Given the description of an element on the screen output the (x, y) to click on. 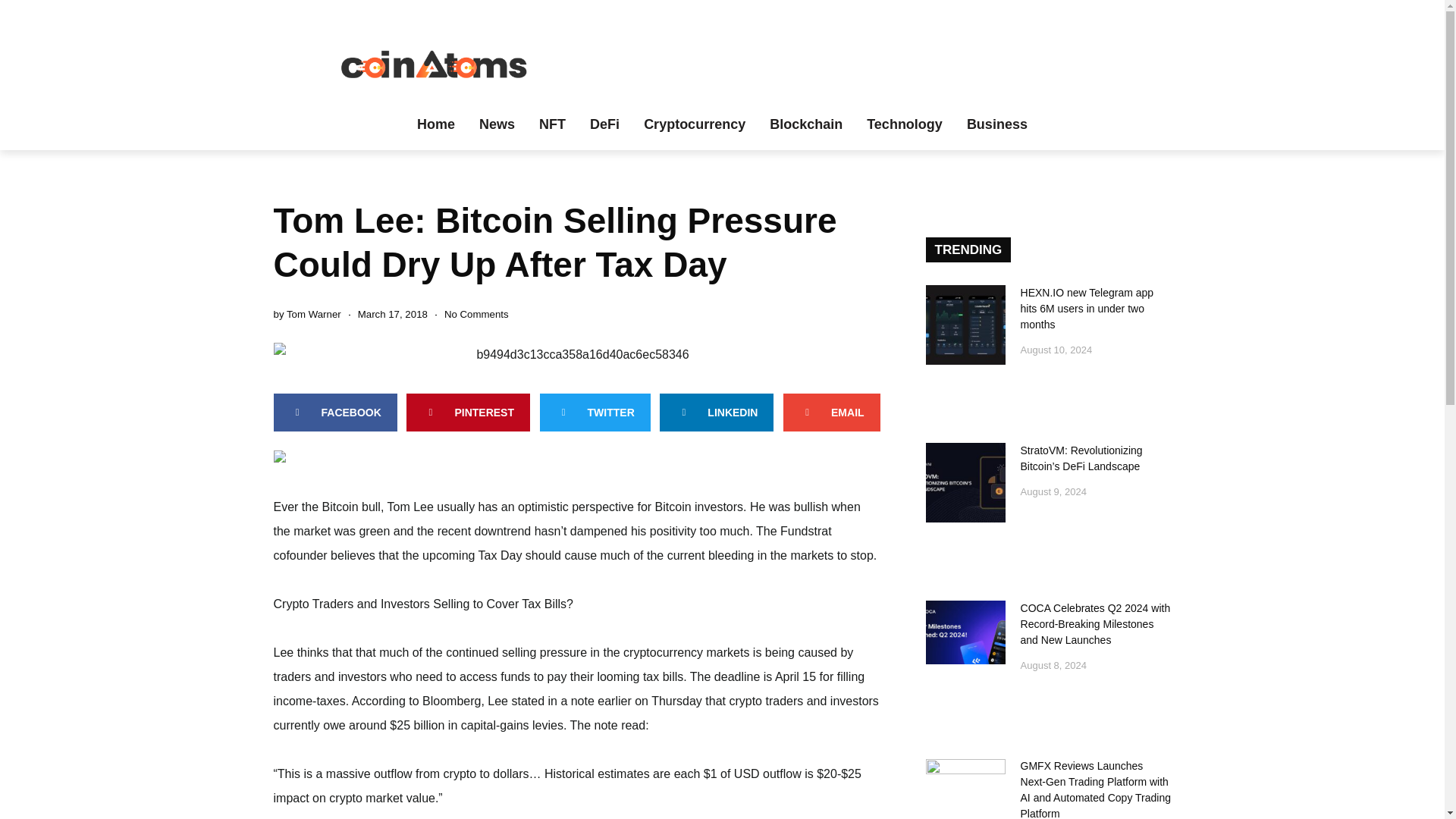
Technology (904, 123)
DeFi (604, 123)
HEXN.IO new Telegram app hits 6M users in under two months (1087, 308)
b9494d3c13cca358a16d40ac6ec58346 (576, 354)
News (497, 123)
NFT (552, 123)
Home (435, 123)
Blockchain (805, 123)
Cryptocurrency (694, 123)
Business (997, 123)
